Given the description of an element on the screen output the (x, y) to click on. 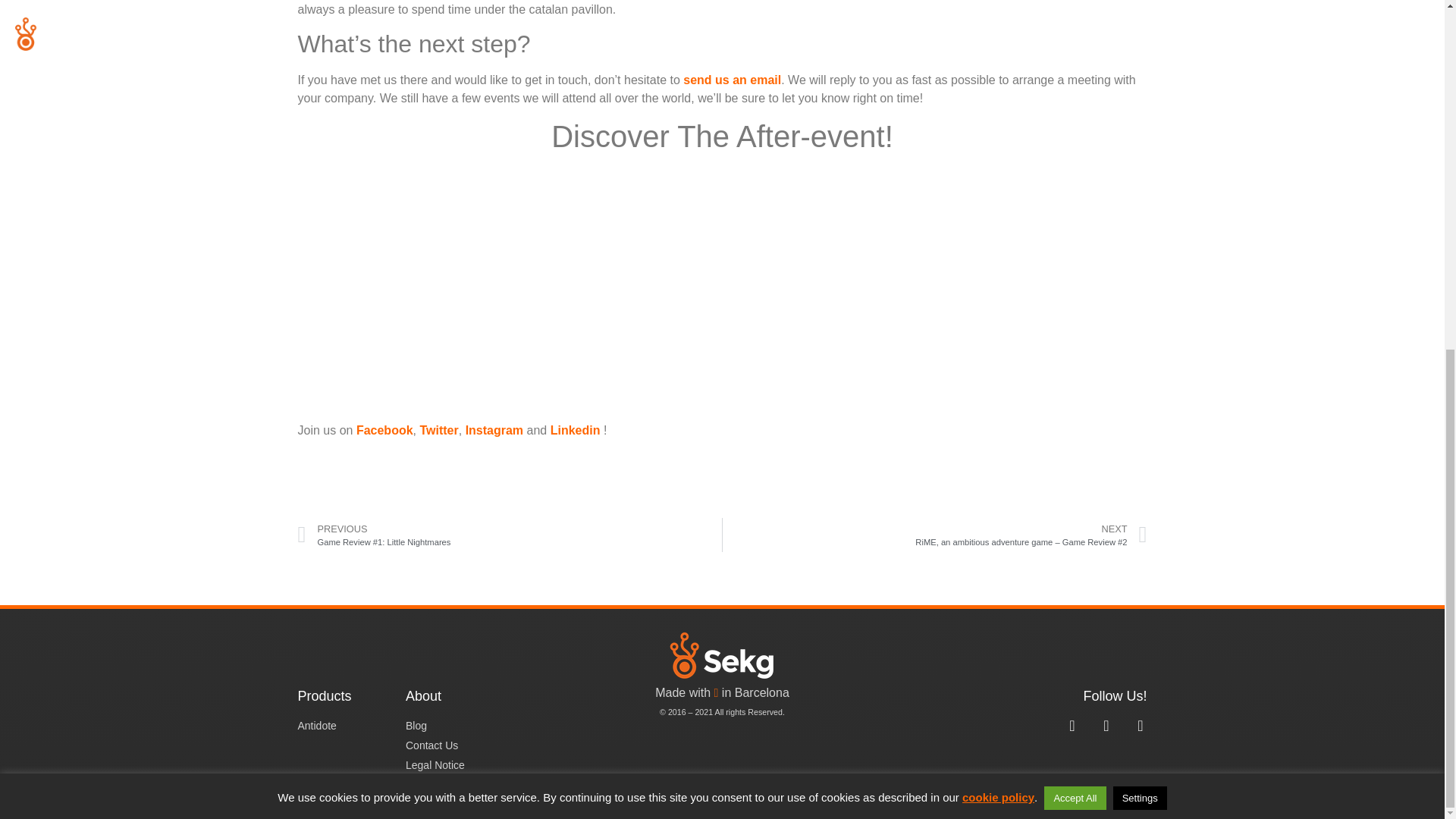
Blog (452, 725)
send us an email (731, 79)
Twitter (438, 430)
Linkedin (574, 430)
cookie policy (997, 191)
Contact Us (452, 745)
Facebook (384, 430)
Instagram (493, 430)
Settings (1140, 191)
Accept All (1074, 191)
